Given the description of an element on the screen output the (x, y) to click on. 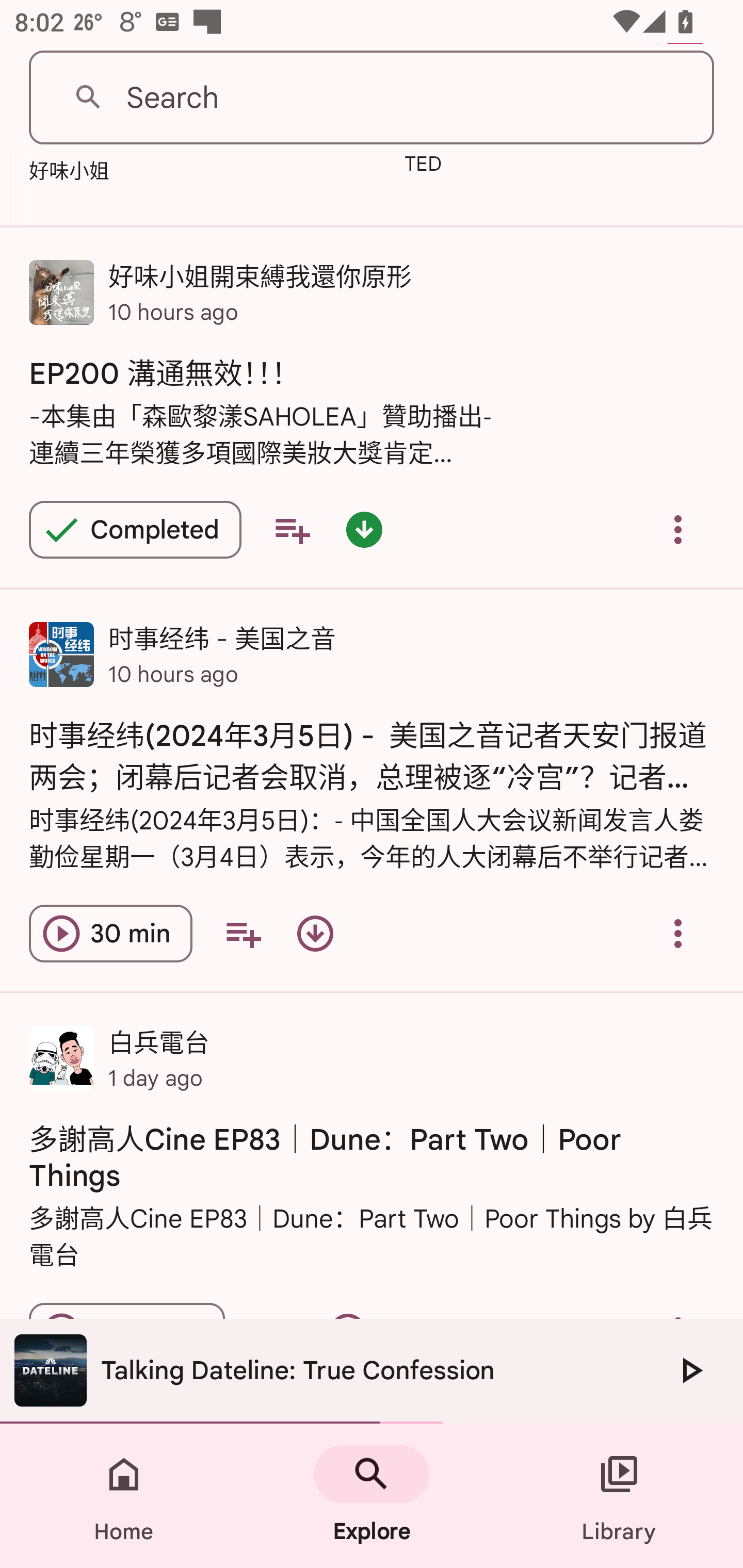
Search (371, 97)
好味小姐 (111, 174)
TED (487, 170)
Play episode EP200 溝通無效！！！ Completed (134, 529)
Add to your queue (291, 529)
Episode downloaded - double tap for options (364, 529)
Overflow menu (677, 529)
Add to your queue (242, 933)
Download episode (315, 933)
Overflow menu (677, 933)
Play (690, 1370)
Home (123, 1495)
Library (619, 1495)
